Given the description of an element on the screen output the (x, y) to click on. 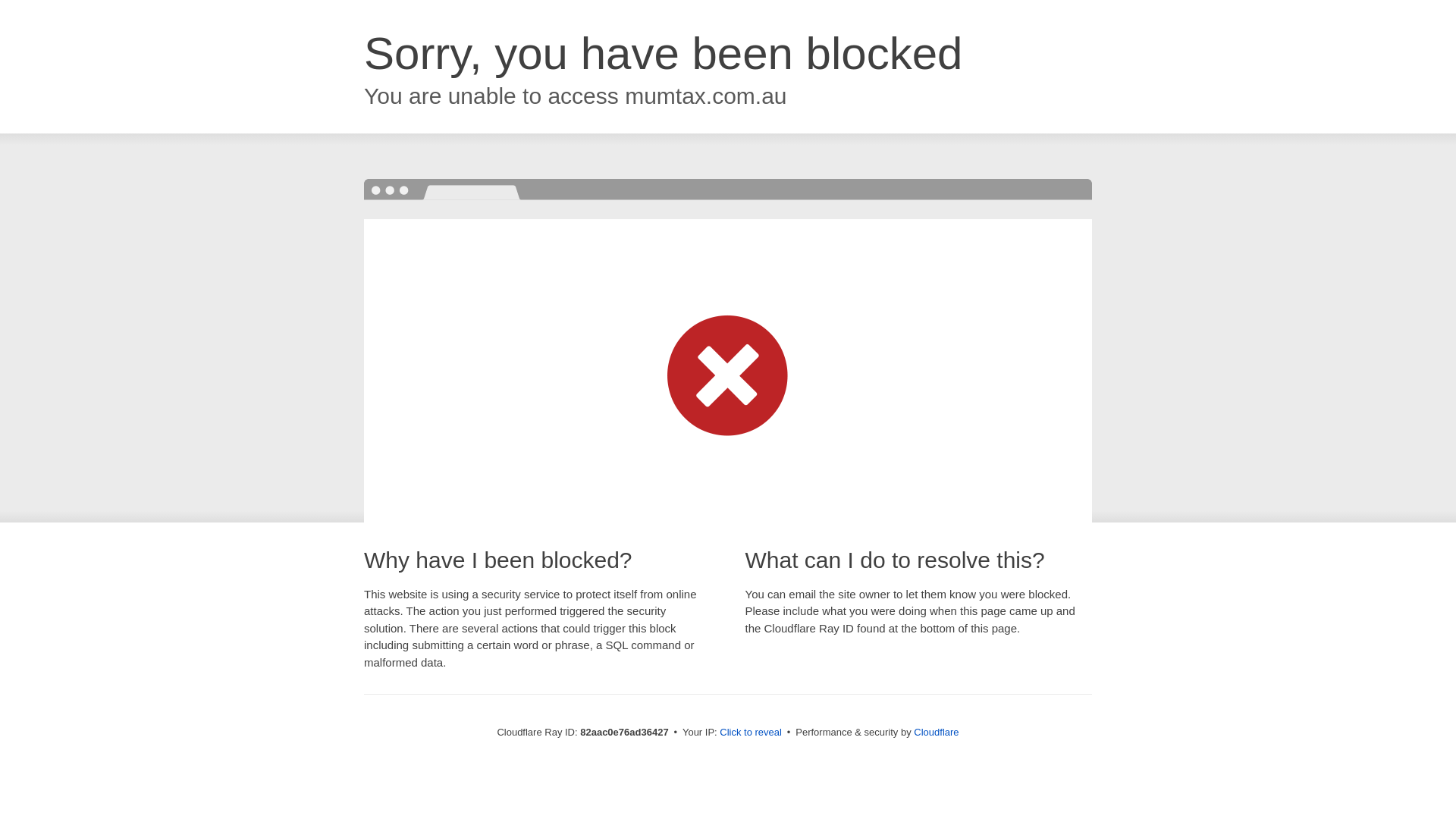
Click to reveal Element type: text (750, 732)
Cloudflare Element type: text (935, 731)
